Given the description of an element on the screen output the (x, y) to click on. 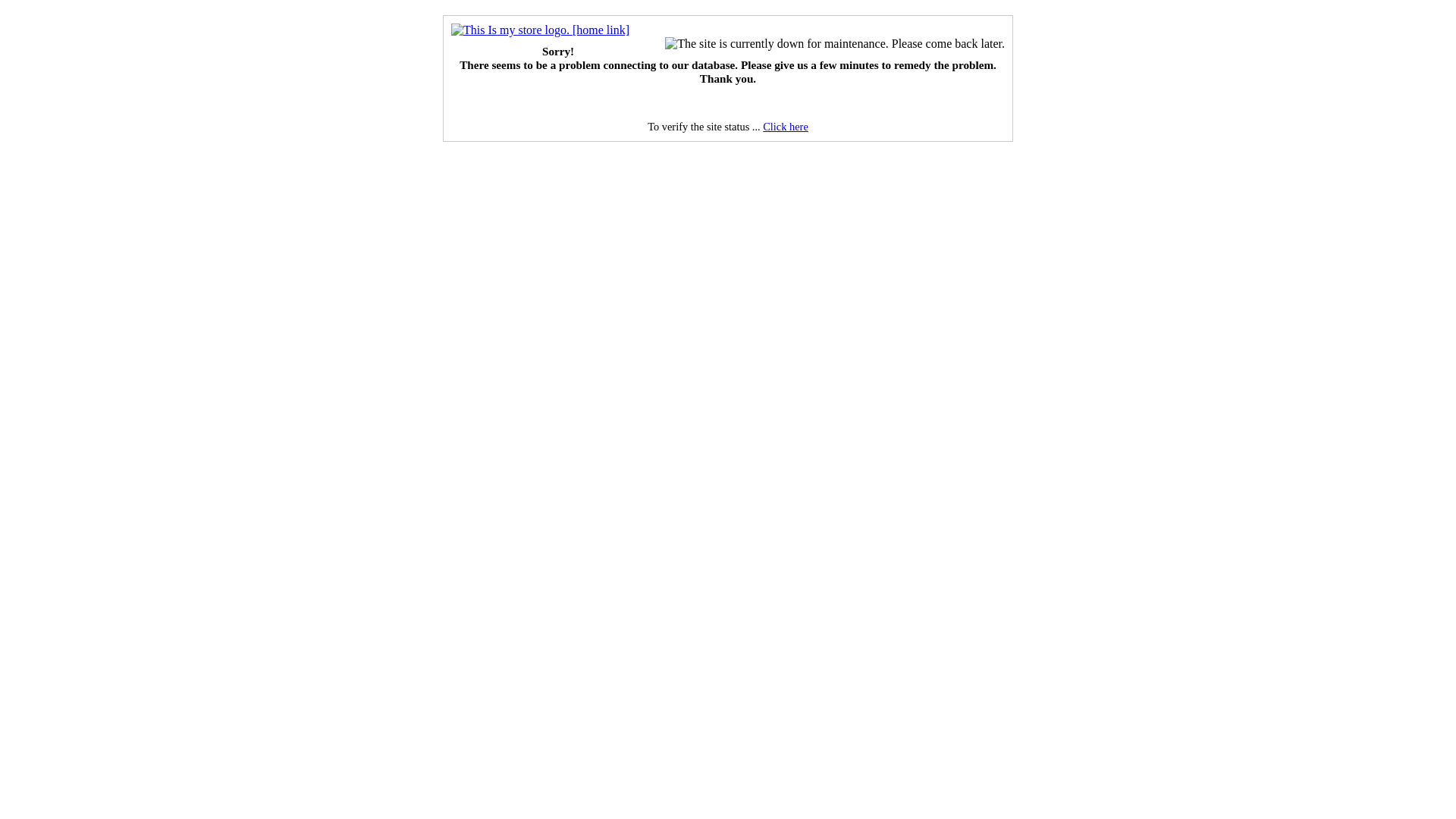
Click here Element type: text (785, 126)
This Is my store logo. [home link] Element type: hover (540, 30)
